Given the description of an element on the screen output the (x, y) to click on. 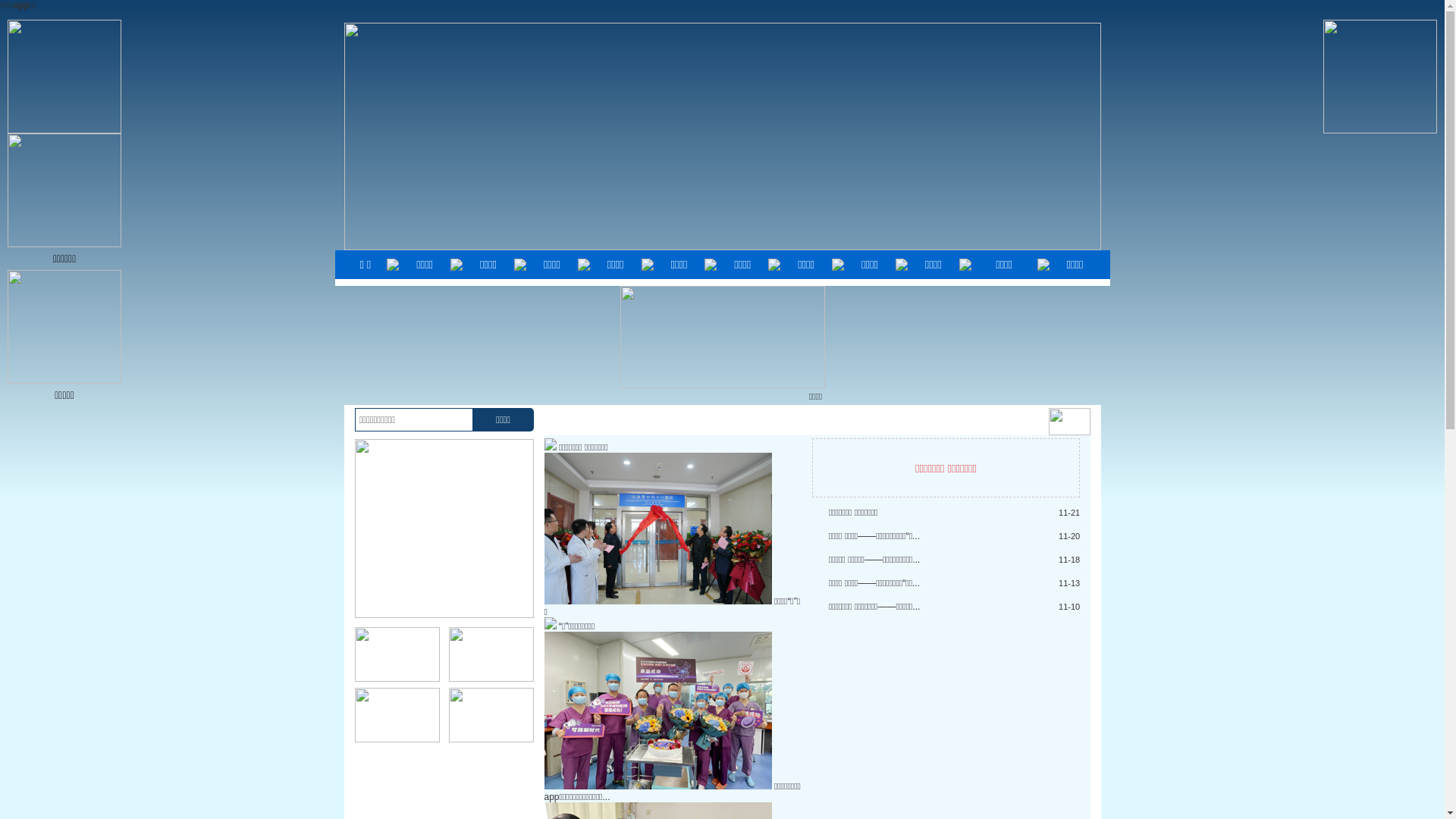
11-21 Element type: text (1068, 512)
11-10 Element type: text (1068, 606)
11-13 Element type: text (1068, 582)
11-20 Element type: text (1068, 535)
11-18 Element type: text (1068, 559)
